Given the description of an element on the screen output the (x, y) to click on. 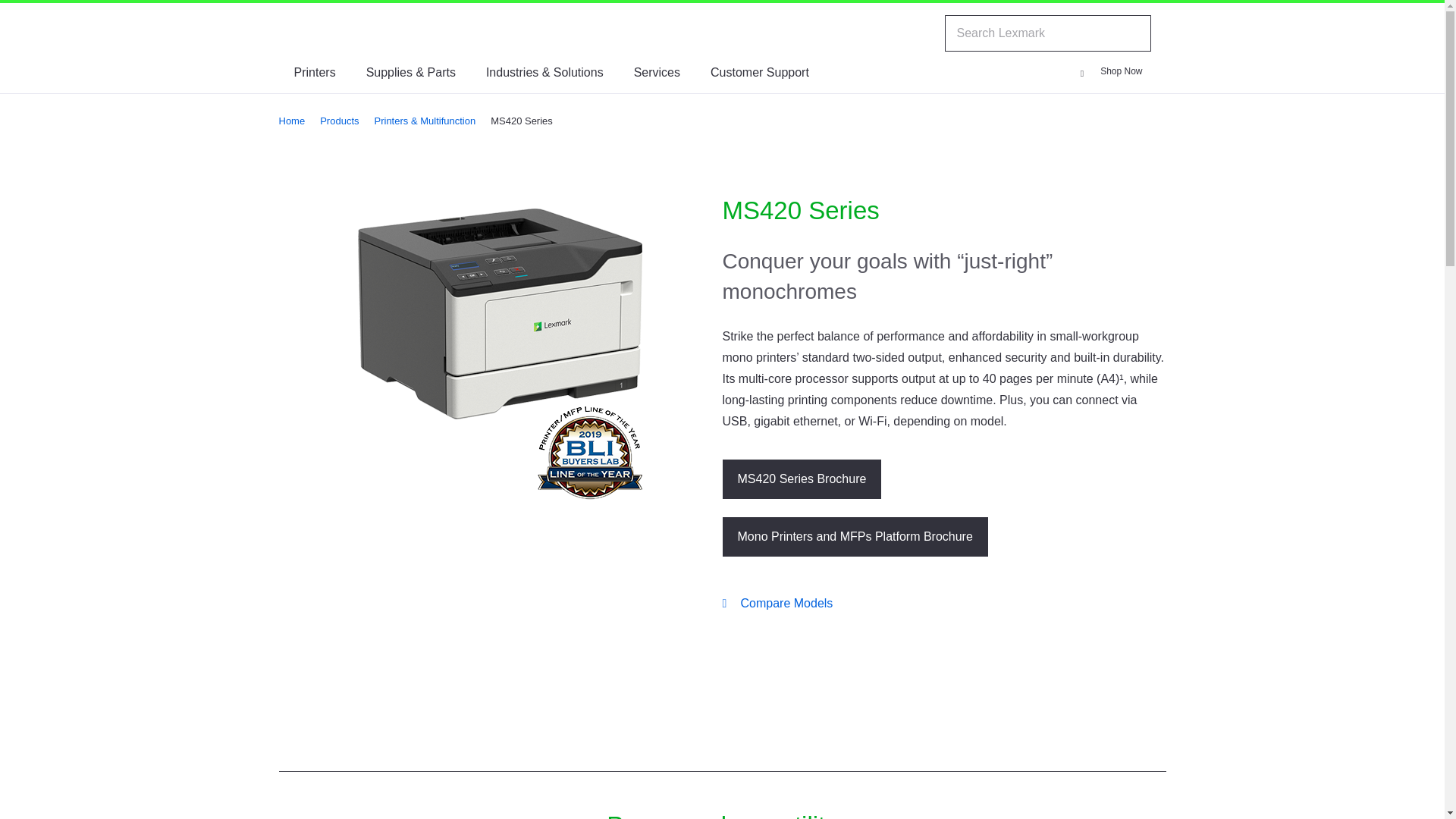
Mono Printers and MFPs Platform Brochure (854, 536)
MS420 Series Brochure (801, 478)
